Given the description of an element on the screen output the (x, y) to click on. 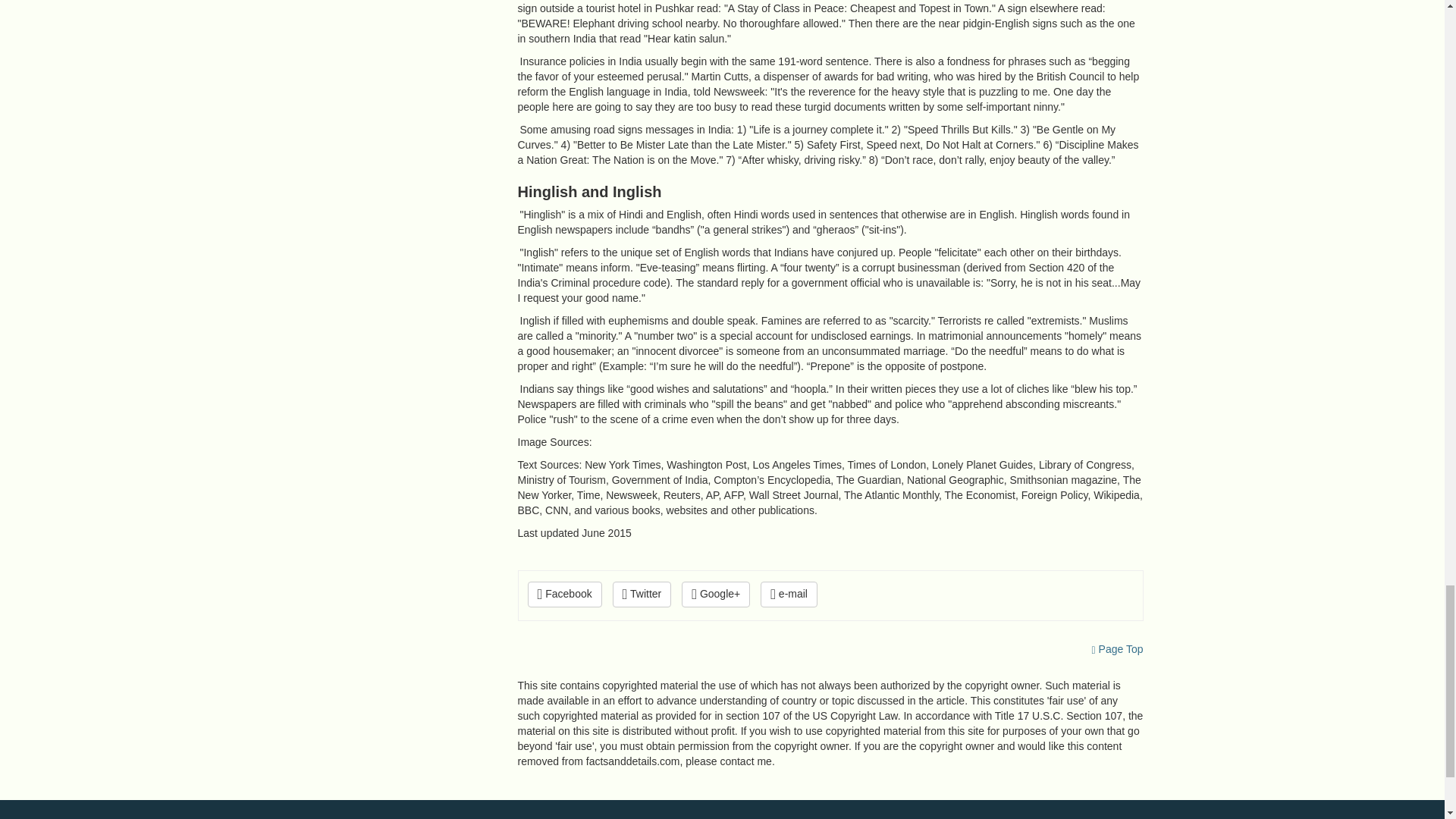
 Facebook (564, 594)
 Twitter (641, 594)
 Page Top (1117, 648)
e-mail a link to this page (788, 594)
 e-mail (788, 594)
